Given the description of an element on the screen output the (x, y) to click on. 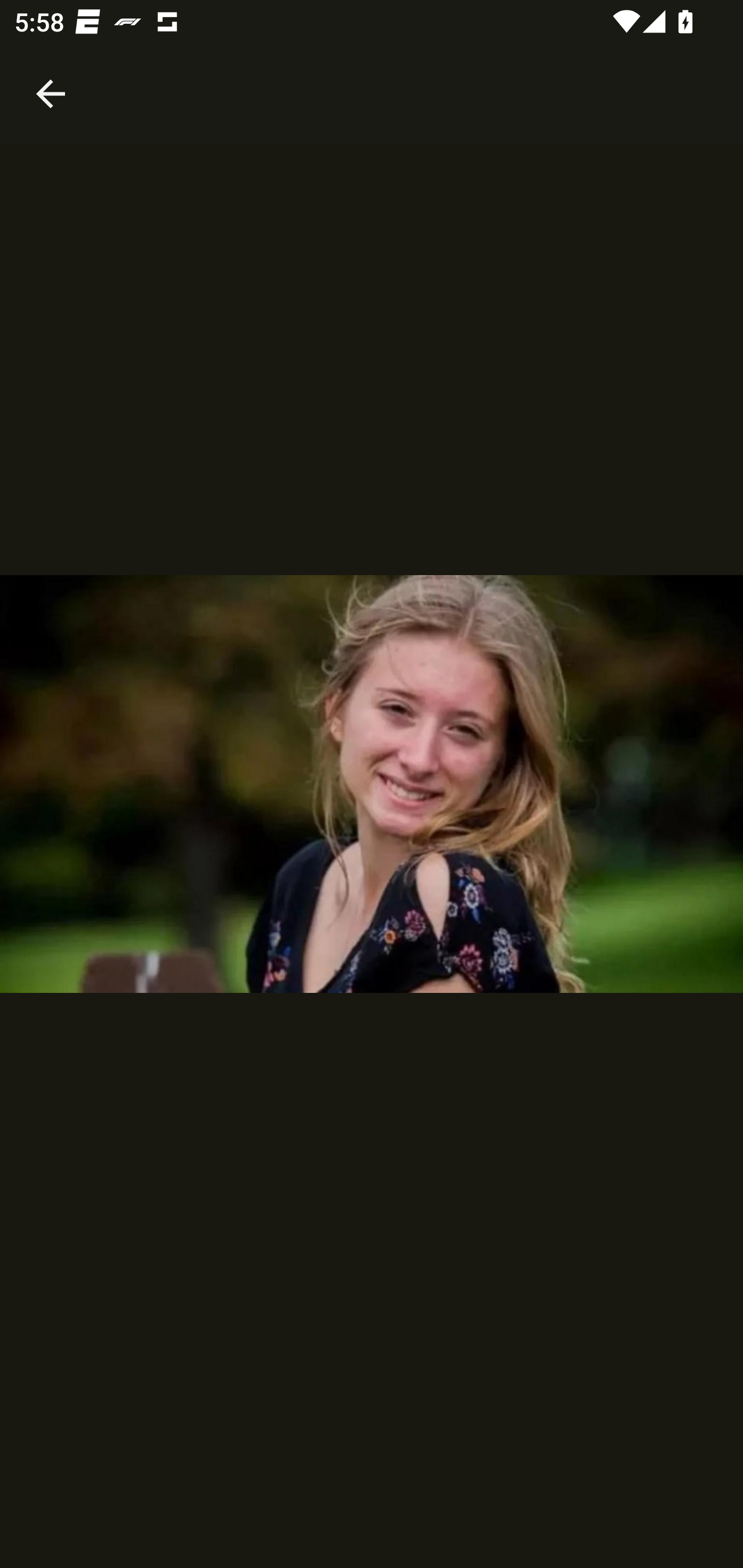
Back (50, 72)
